Given the description of an element on the screen output the (x, y) to click on. 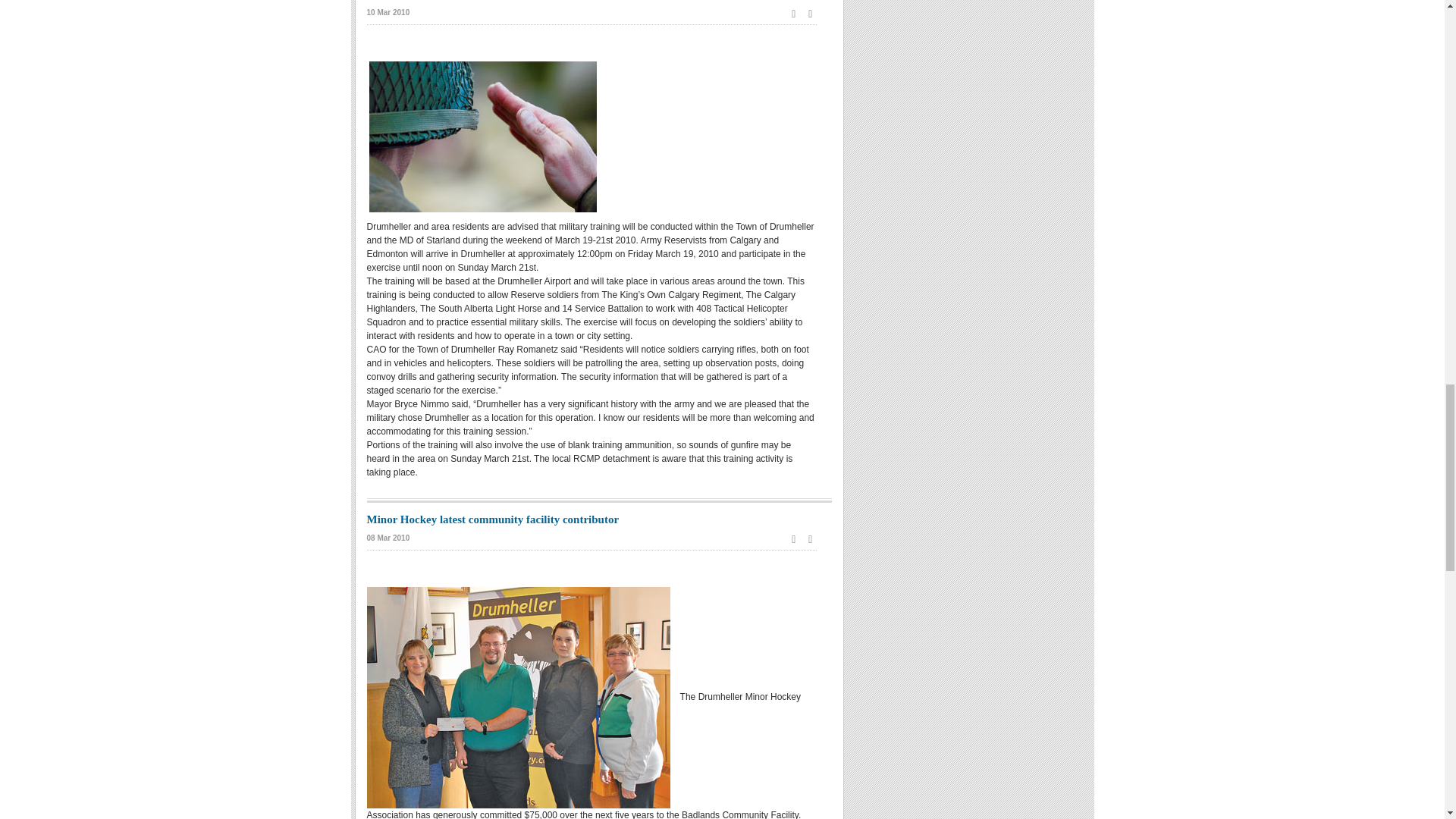
Email (810, 13)
Print (793, 13)
Print (793, 539)
